Given the description of an element on the screen output the (x, y) to click on. 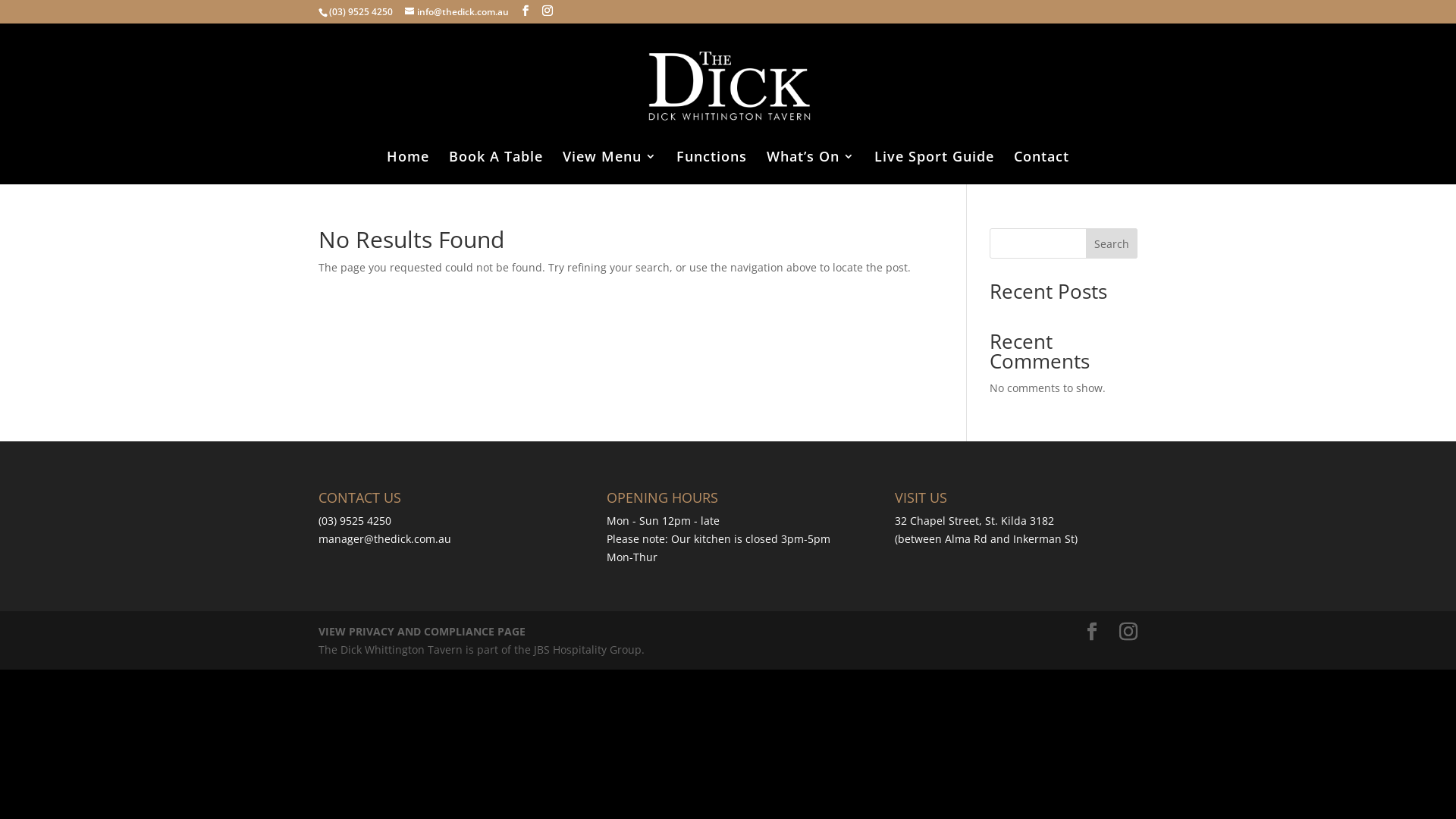
Functions Element type: text (711, 167)
(03) 9525 4250 Element type: text (354, 520)
info@thedick.com.au Element type: text (456, 11)
Live Sport Guide Element type: text (934, 167)
Home Element type: text (407, 167)
View Menu Element type: text (609, 167)
(03) 9525 4250 Element type: text (360, 11)
Search Element type: text (1111, 243)
manager Element type: text (341, 538)
@thedick.com.au Element type: text (407, 538)
VIEW PRIVACY AND COMPLIANCE PAGE Element type: text (421, 631)
Contact Element type: text (1041, 167)
Book A Table Element type: text (495, 167)
